Given the description of an element on the screen output the (x, y) to click on. 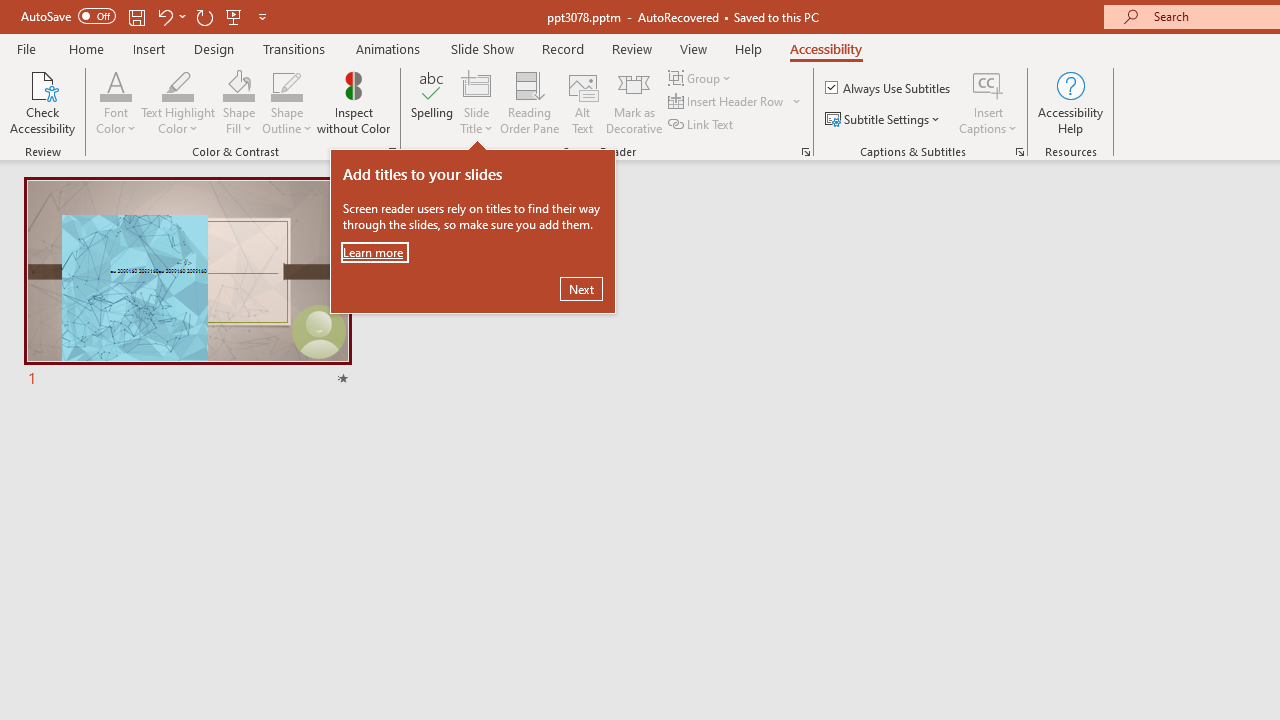
Inspect without Color (353, 102)
Spelling... (432, 102)
Subtitle Settings (884, 119)
Group (701, 78)
